Given the description of an element on the screen output the (x, y) to click on. 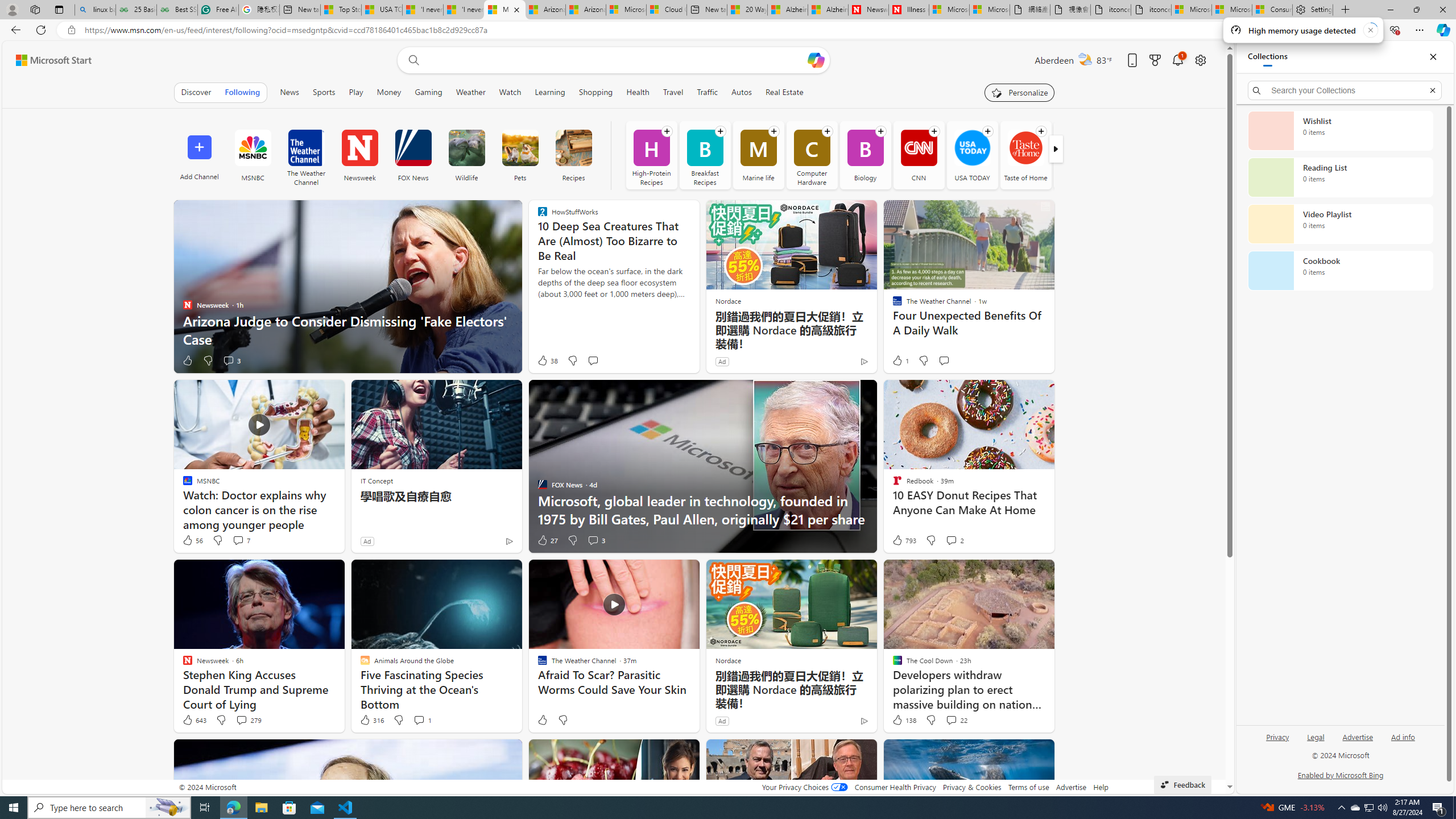
Wildlife (466, 155)
USA TODAY (972, 155)
Taste of Home (1025, 147)
Add Channel (199, 155)
Ad info (1402, 741)
138 Like (903, 719)
View comments 279 Comment (241, 719)
CNN (918, 155)
Newsweek - News, Analysis, Politics, Business, Technology (868, 9)
Learning (549, 92)
Watch (509, 92)
